Given the description of an element on the screen output the (x, y) to click on. 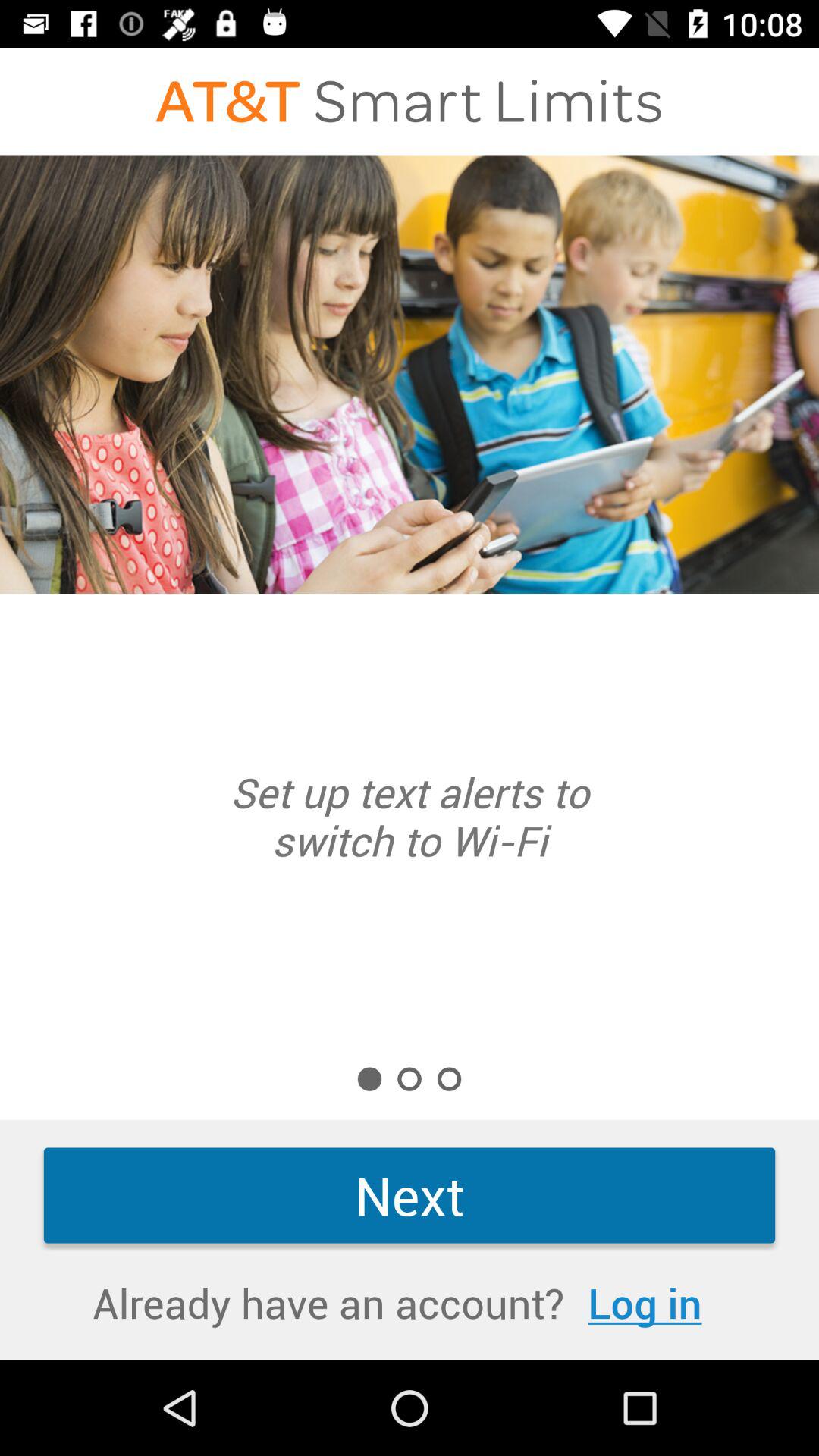
swipe until the next icon (409, 1195)
